Given the description of an element on the screen output the (x, y) to click on. 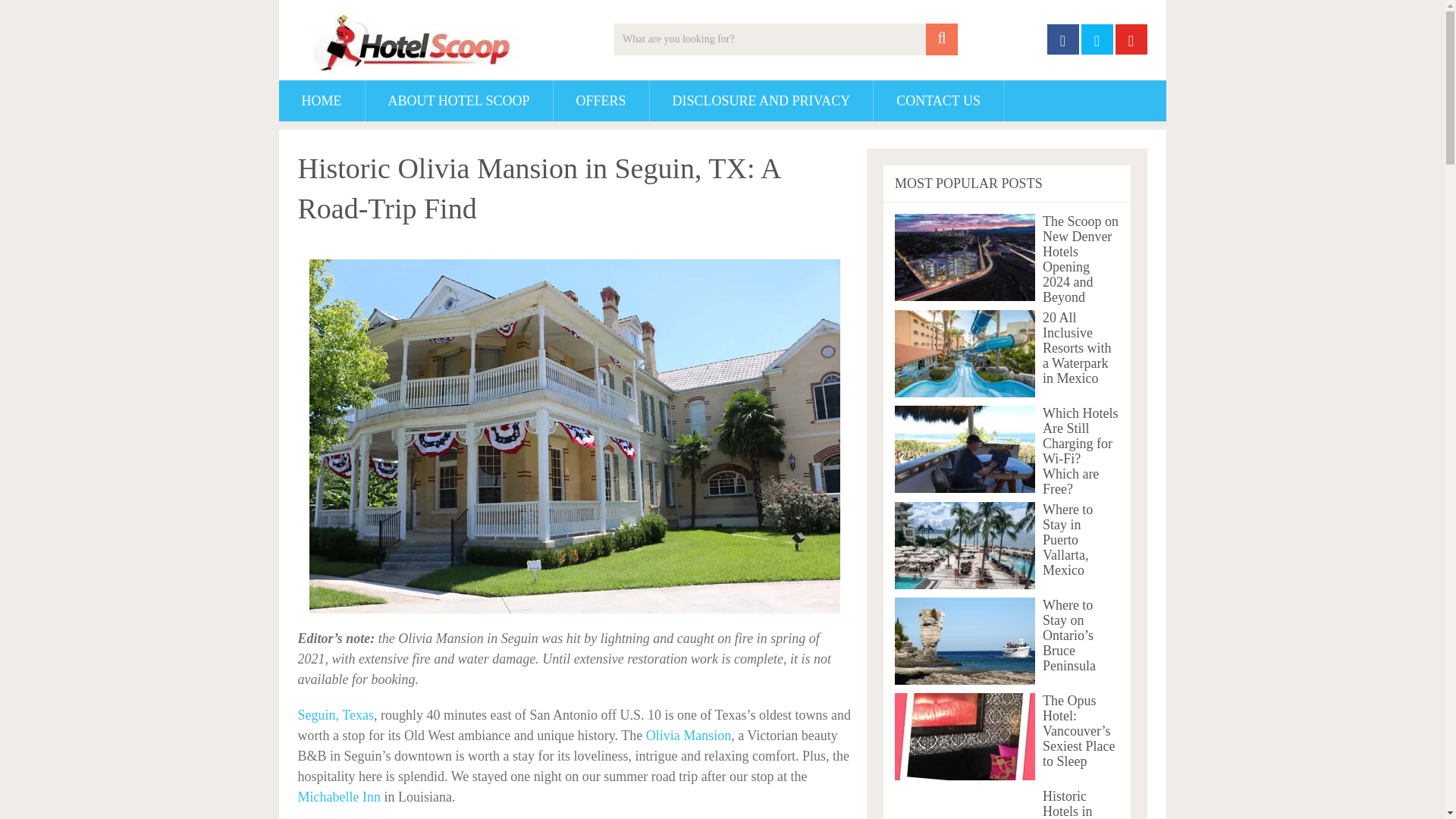
Seguin, Texas (334, 714)
ABOUT HOTEL SCOOP (459, 100)
HOME (322, 100)
Where to Stay in Puerto Vallarta, Mexico (965, 545)
Which Hotels Are Still Charging for Wi-Fi? Which are Free? (965, 449)
20 All Inclusive Resorts with a Waterpark in Mexico (965, 353)
Michabelle Inn (340, 796)
Olivia Mansion (689, 735)
CONTACT US (938, 100)
The Scoop on New Denver Hotels Opening 2024 and Beyond (965, 257)
OFFERS (601, 100)
DISCLOSURE AND PRIVACY (761, 100)
